Given the description of an element on the screen output the (x, y) to click on. 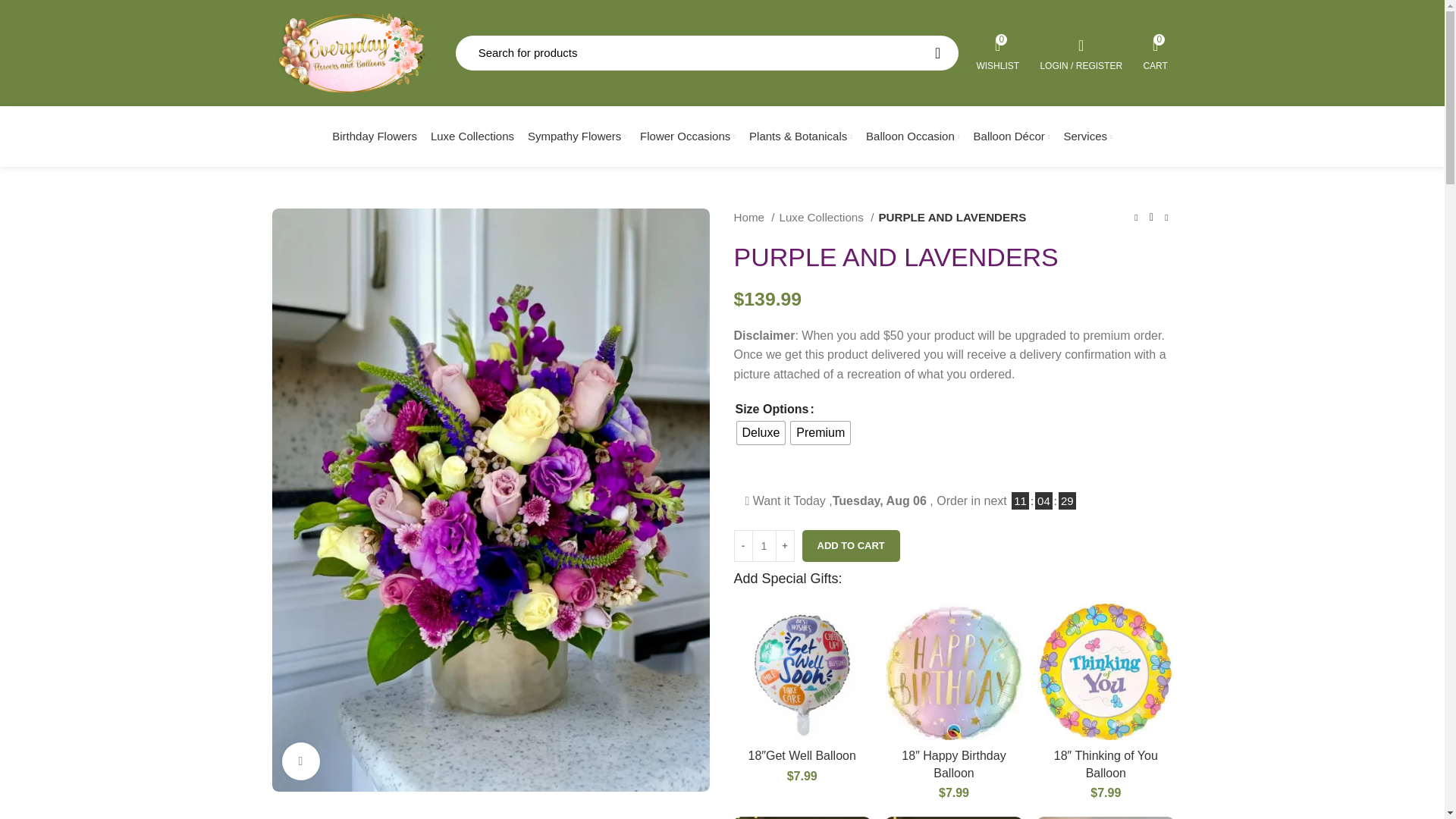
SEARCH (937, 53)
My account (1080, 52)
Sympathy Flowers (577, 136)
Premium (820, 432)
Birthday Flowers (373, 136)
Luxe Collections (472, 136)
Shopping cart (1155, 52)
My Wishlist (997, 52)
Deluxe (997, 52)
